Given the description of an element on the screen output the (x, y) to click on. 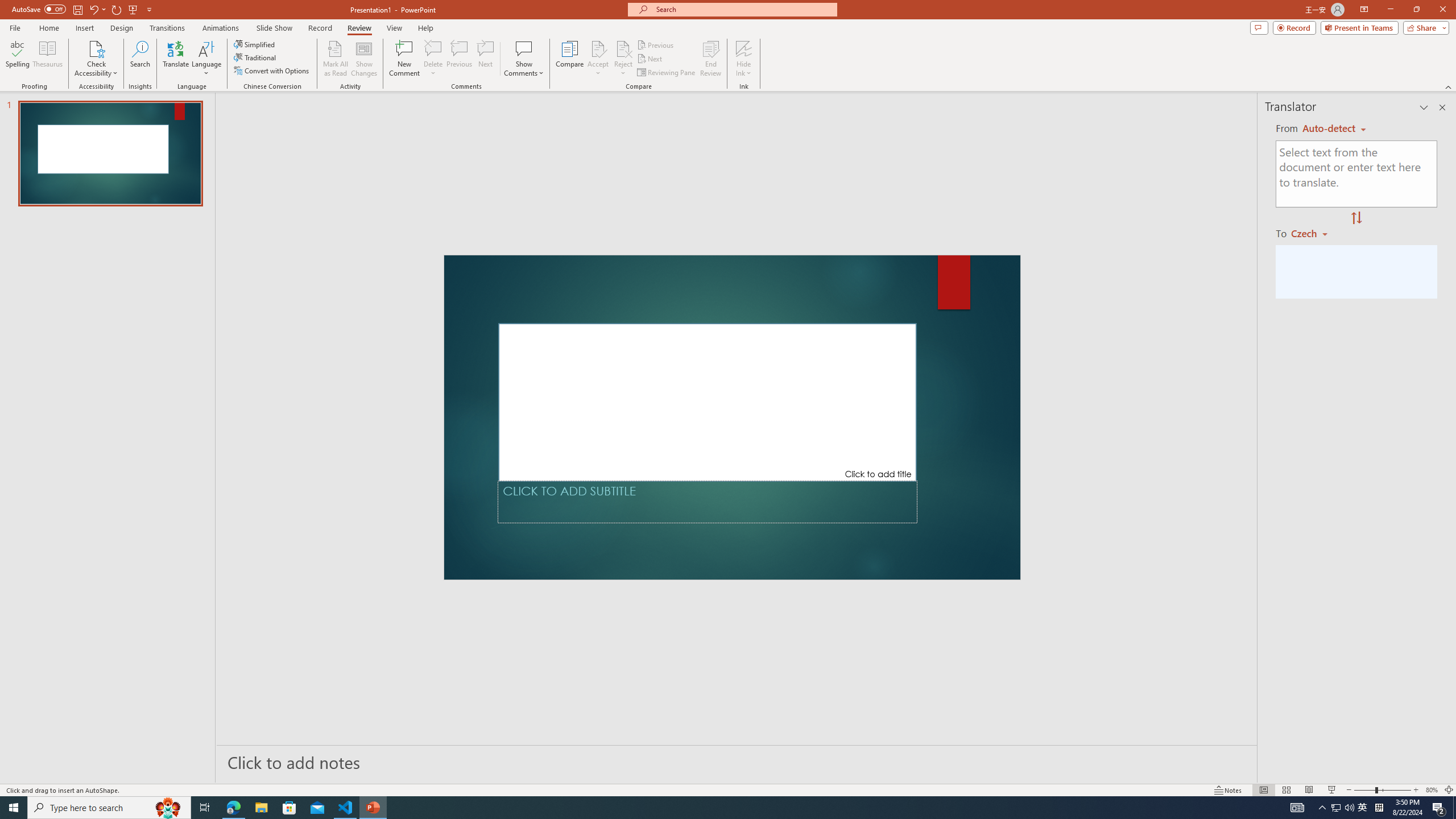
Traditional (255, 56)
Mark All as Read (335, 58)
